Given the description of an element on the screen output the (x, y) to click on. 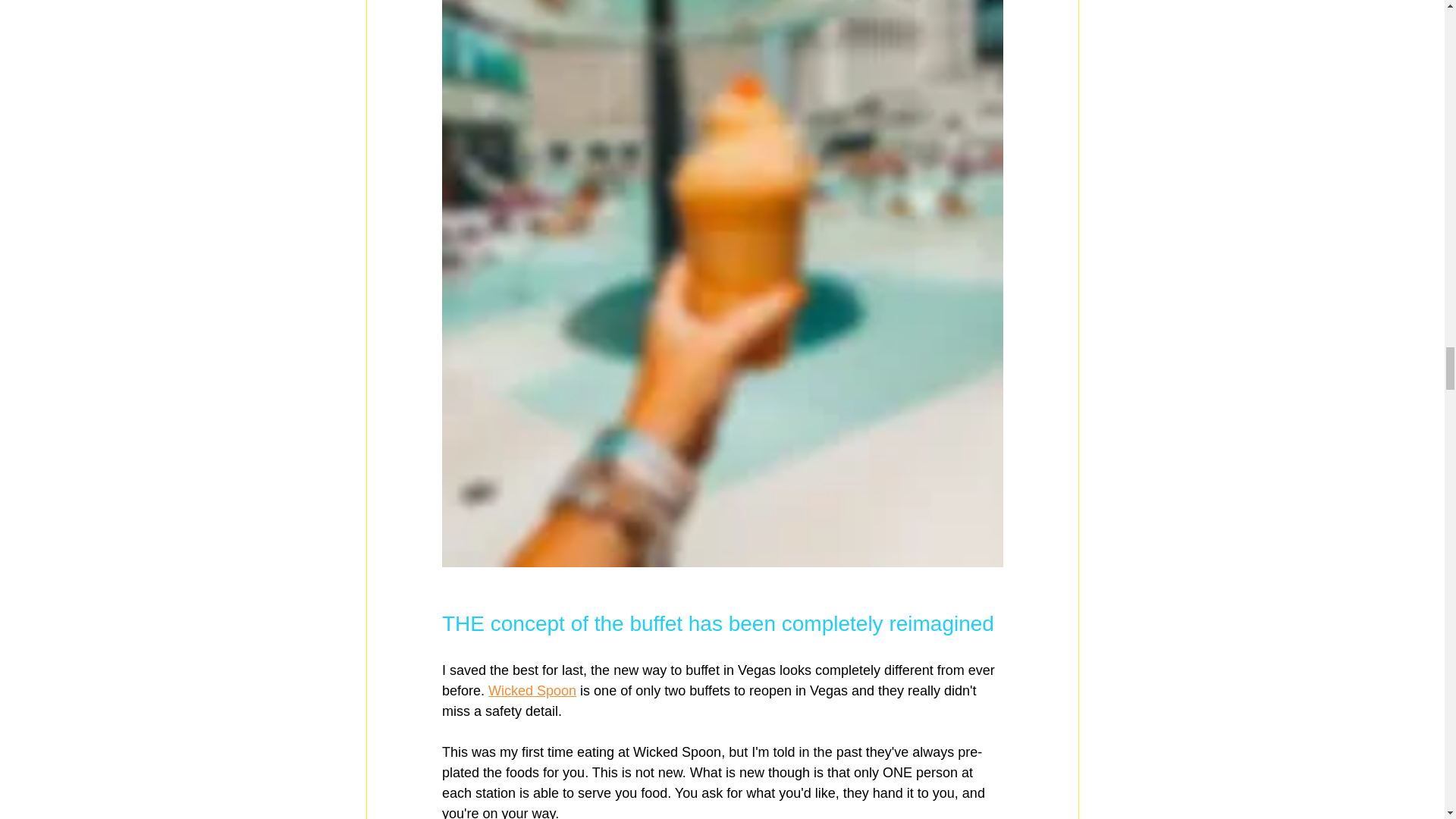
Wicked Spoon (531, 690)
